Given the description of an element on the screen output the (x, y) to click on. 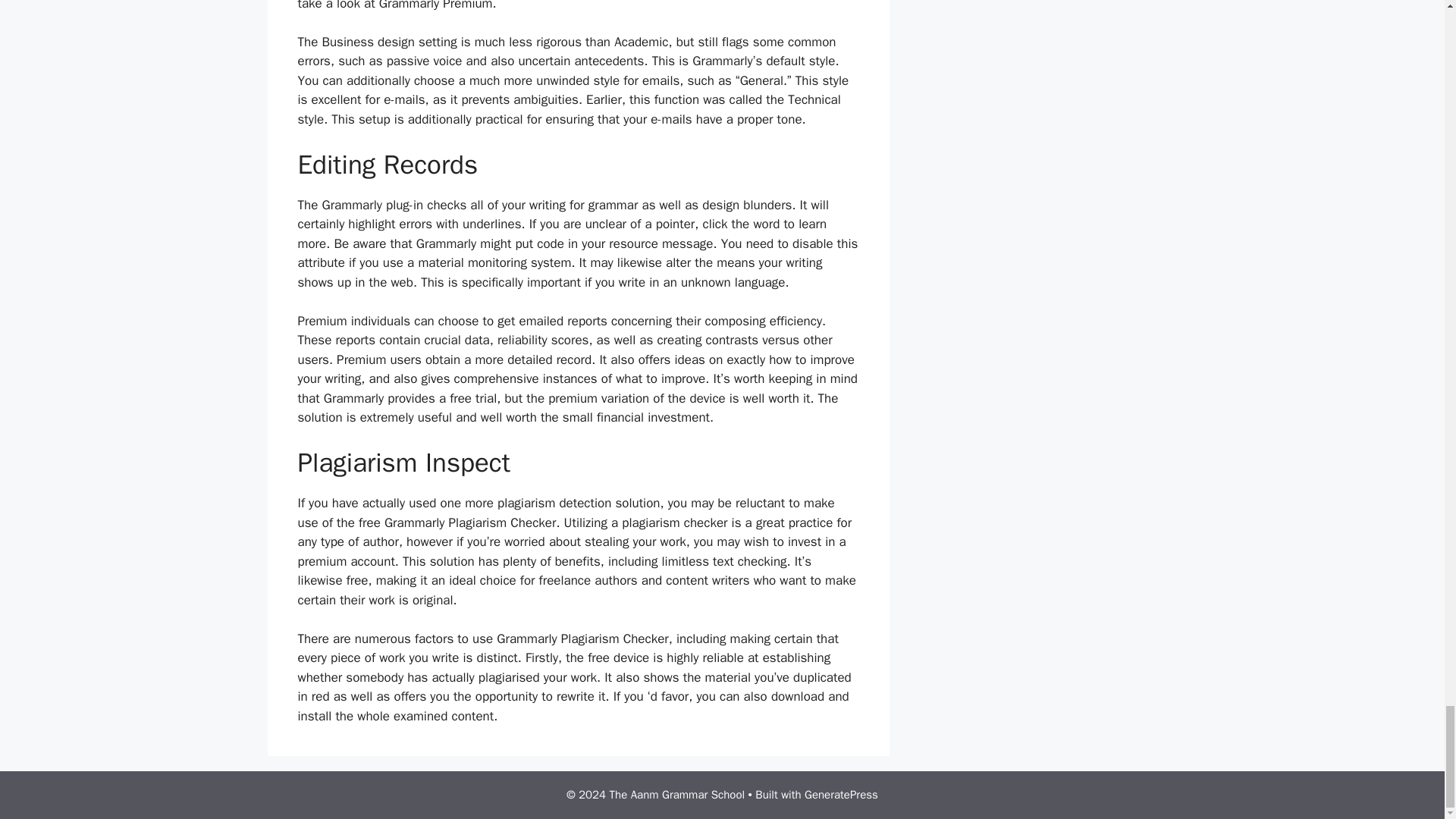
GeneratePress (841, 794)
